Given the description of an element on the screen output the (x, y) to click on. 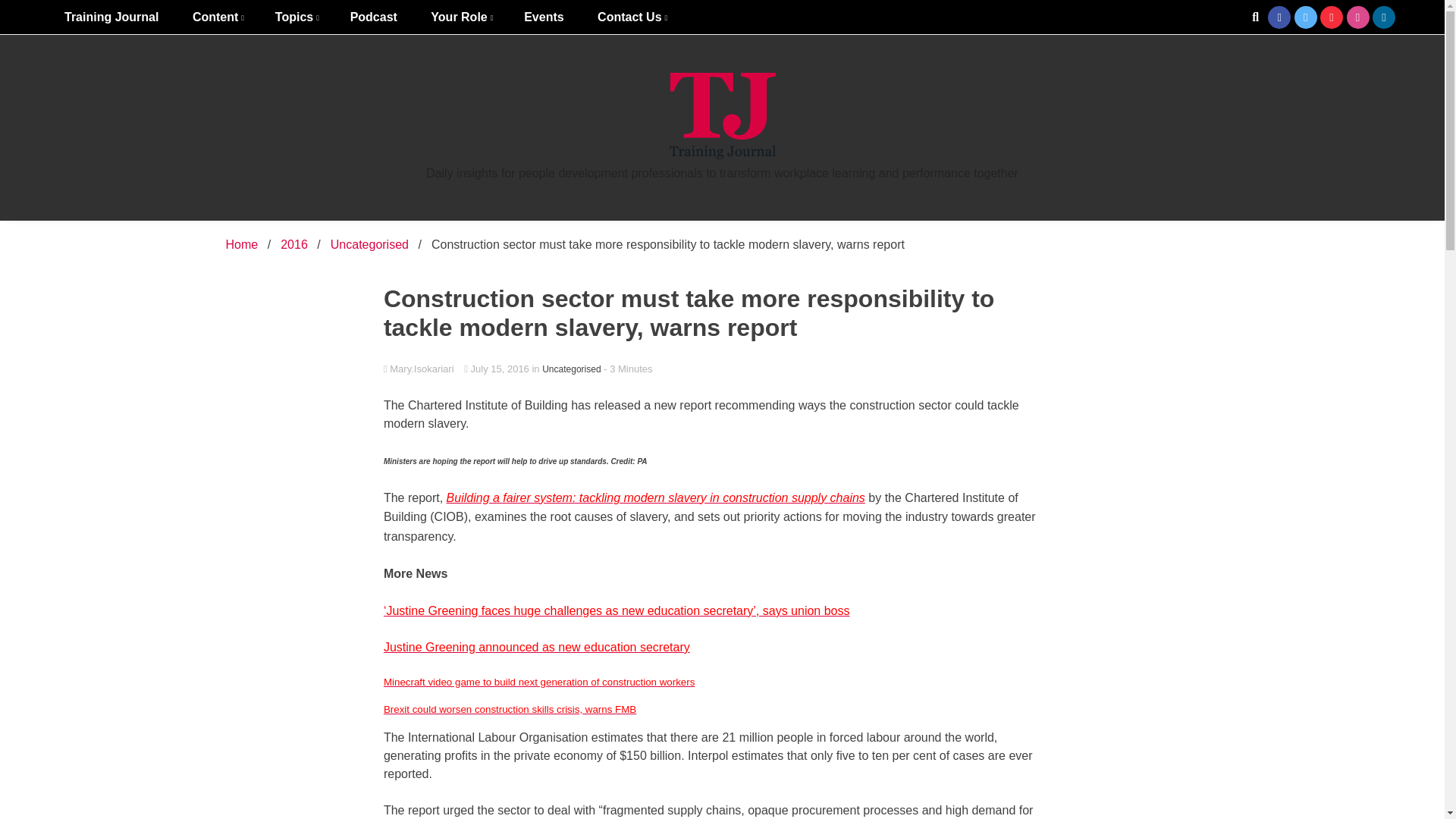
Topics (295, 17)
Podcast (373, 17)
Your Role (459, 17)
Estimated Reading Time of Article (628, 368)
Events (543, 17)
Content (216, 17)
Training Journal (111, 17)
